Given the description of an element on the screen output the (x, y) to click on. 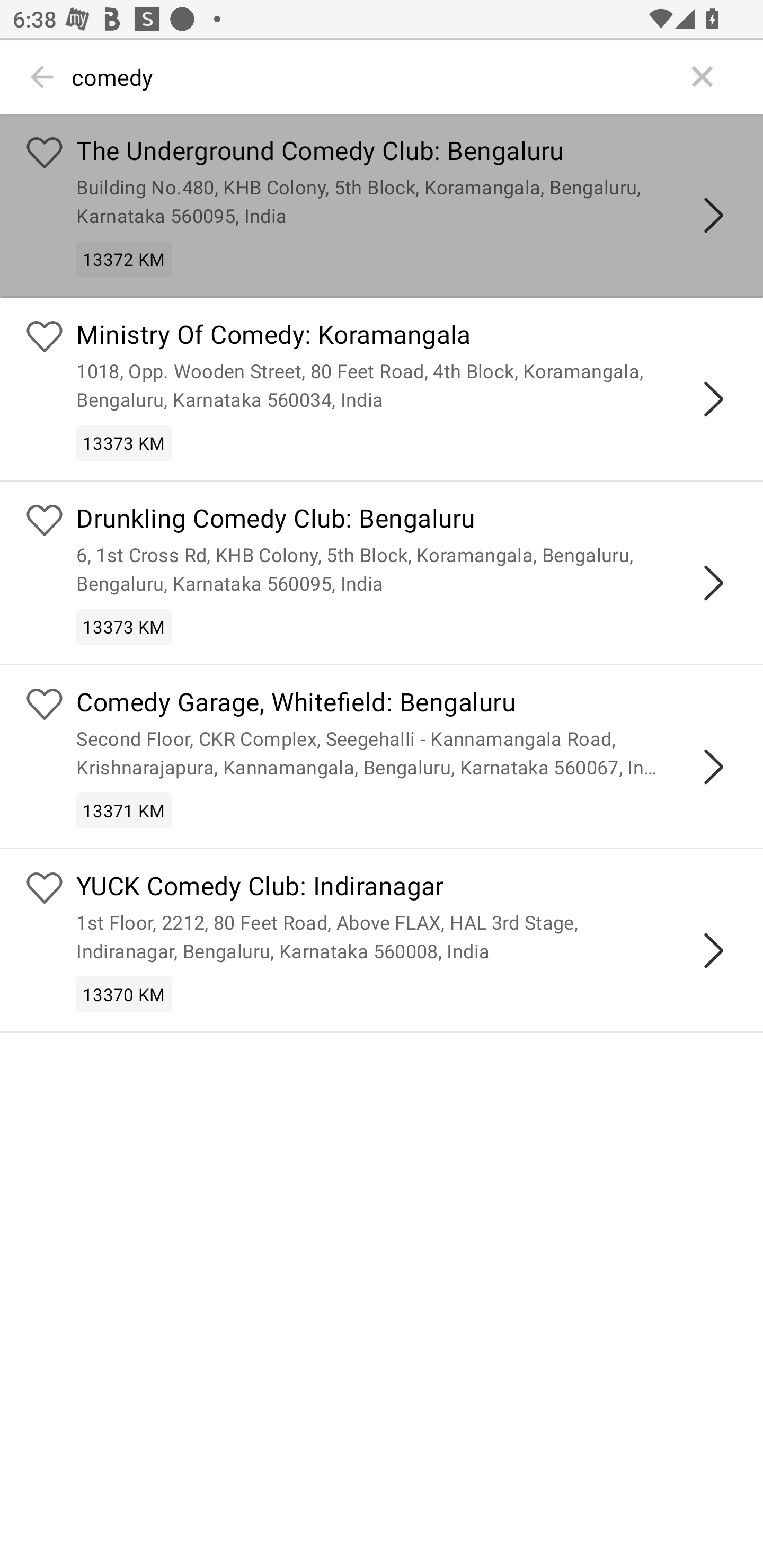
Back (42, 76)
comedy (373, 76)
Close (702, 76)
Ministry Of Comedy: Koramangala (406, 336)
 (713, 398)
13373 KM (123, 442)
Drunkling Comedy Club: Bengaluru (406, 520)
 (713, 582)
13373 KM (123, 626)
Comedy Garage, Whitefield: Bengaluru (406, 703)
 (713, 766)
13371 KM (123, 809)
YUCK Comedy Club: Indiranagar (406, 888)
 (713, 950)
13370 KM (123, 994)
